Given the description of an element on the screen output the (x, y) to click on. 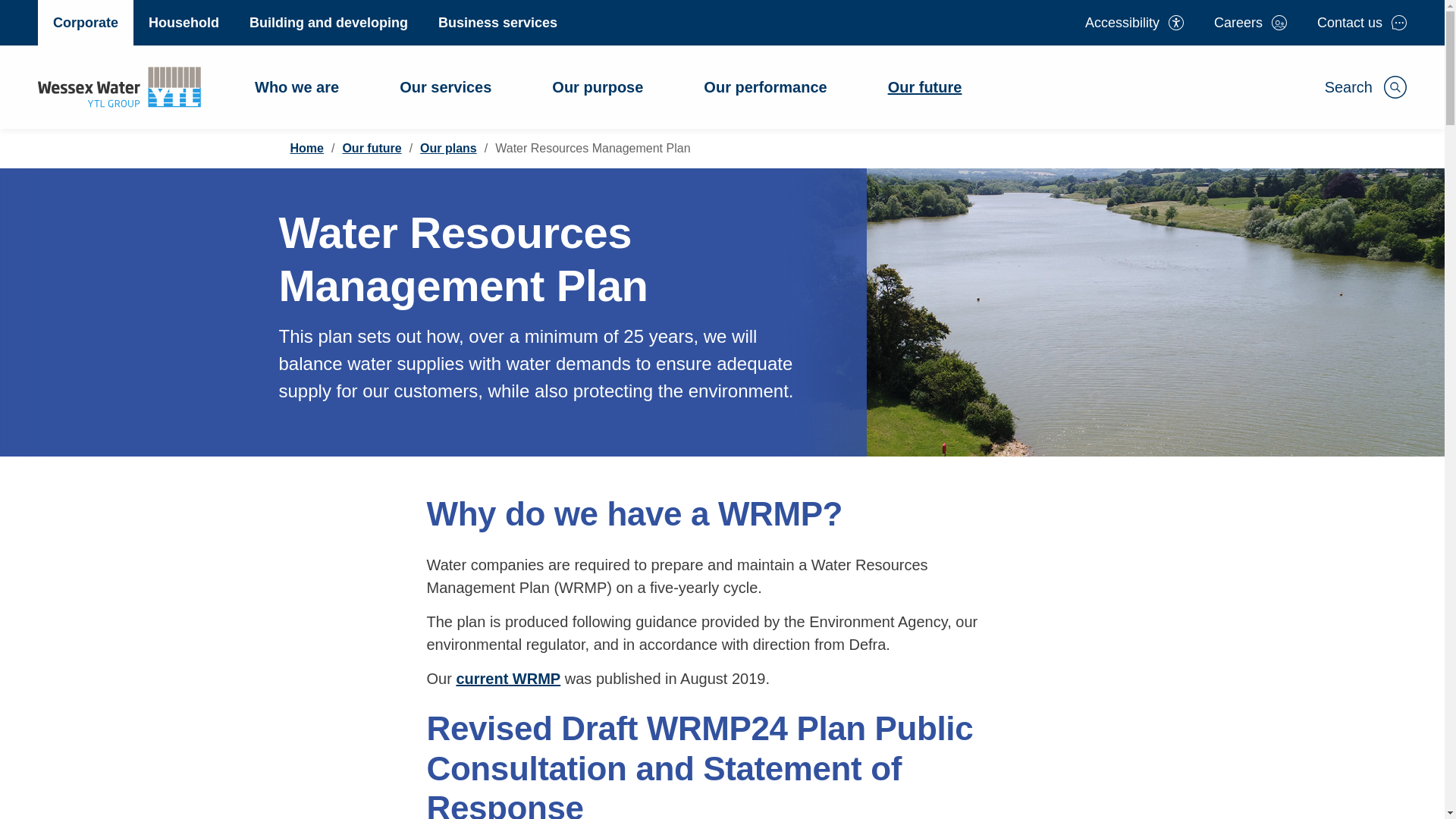
Who we are (296, 86)
Final Water Resources Management Plan Aug 2019 (507, 678)
Corporate (85, 22)
Contact us (1361, 22)
Careers (1250, 22)
Household (183, 22)
Our purpose (596, 86)
Wessex Water home page (118, 86)
Building and developing (328, 22)
Our services (445, 86)
Business services (497, 22)
Accessibility (1133, 22)
